Given the description of an element on the screen output the (x, y) to click on. 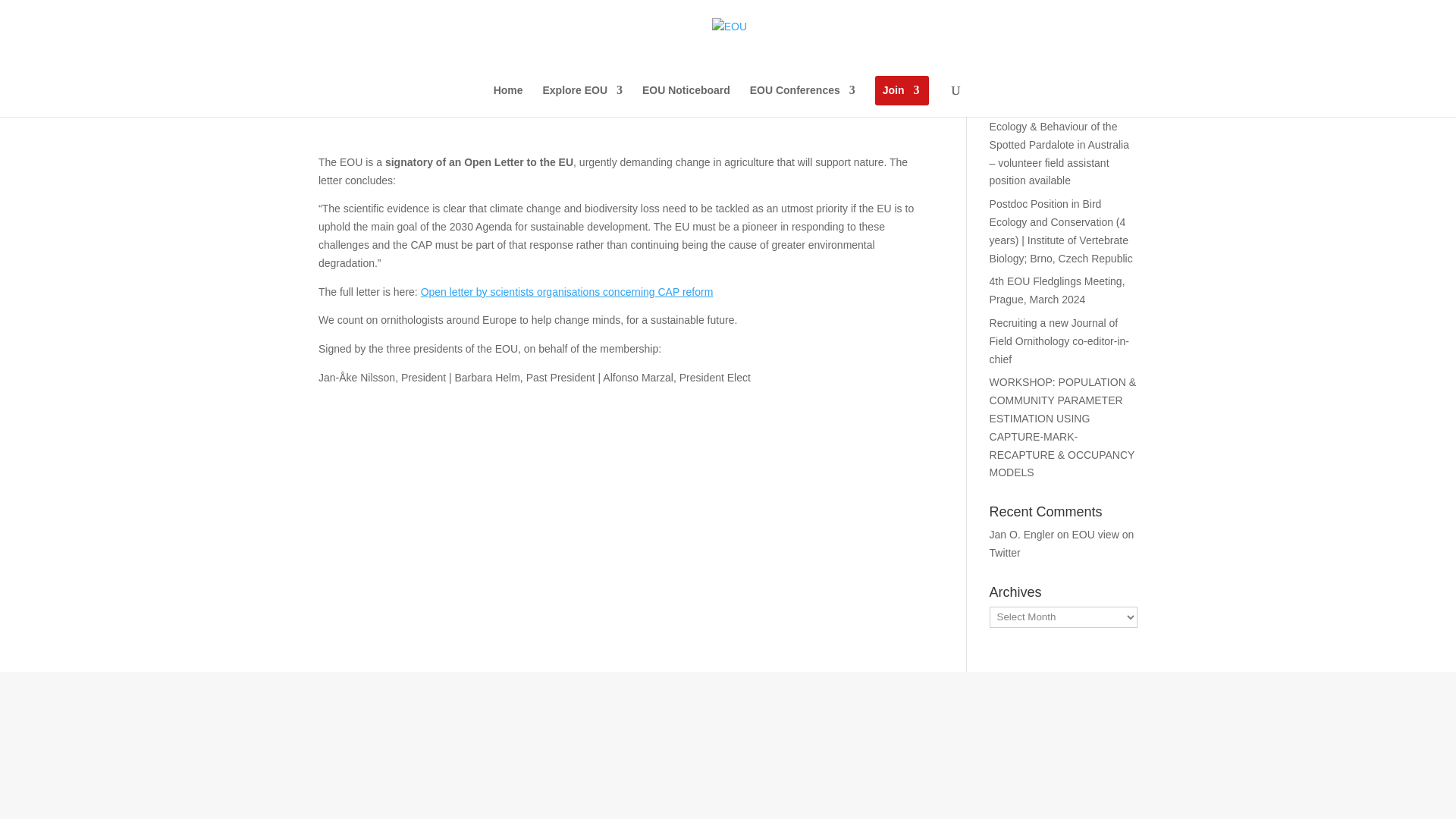
Home (507, 101)
EOU view on Twitter (1062, 543)
Explore EOU (582, 101)
EOU Noticeboard (686, 101)
Barbara Helm (365, 105)
Posts by Barbara Helm (365, 105)
Latest News (501, 105)
Search (1112, 59)
Join (901, 101)
EOU Conferences (802, 101)
4th EOU Fledglings Meeting, Prague, March 2024 (1057, 290)
Search (1112, 59)
